Given the description of an element on the screen output the (x, y) to click on. 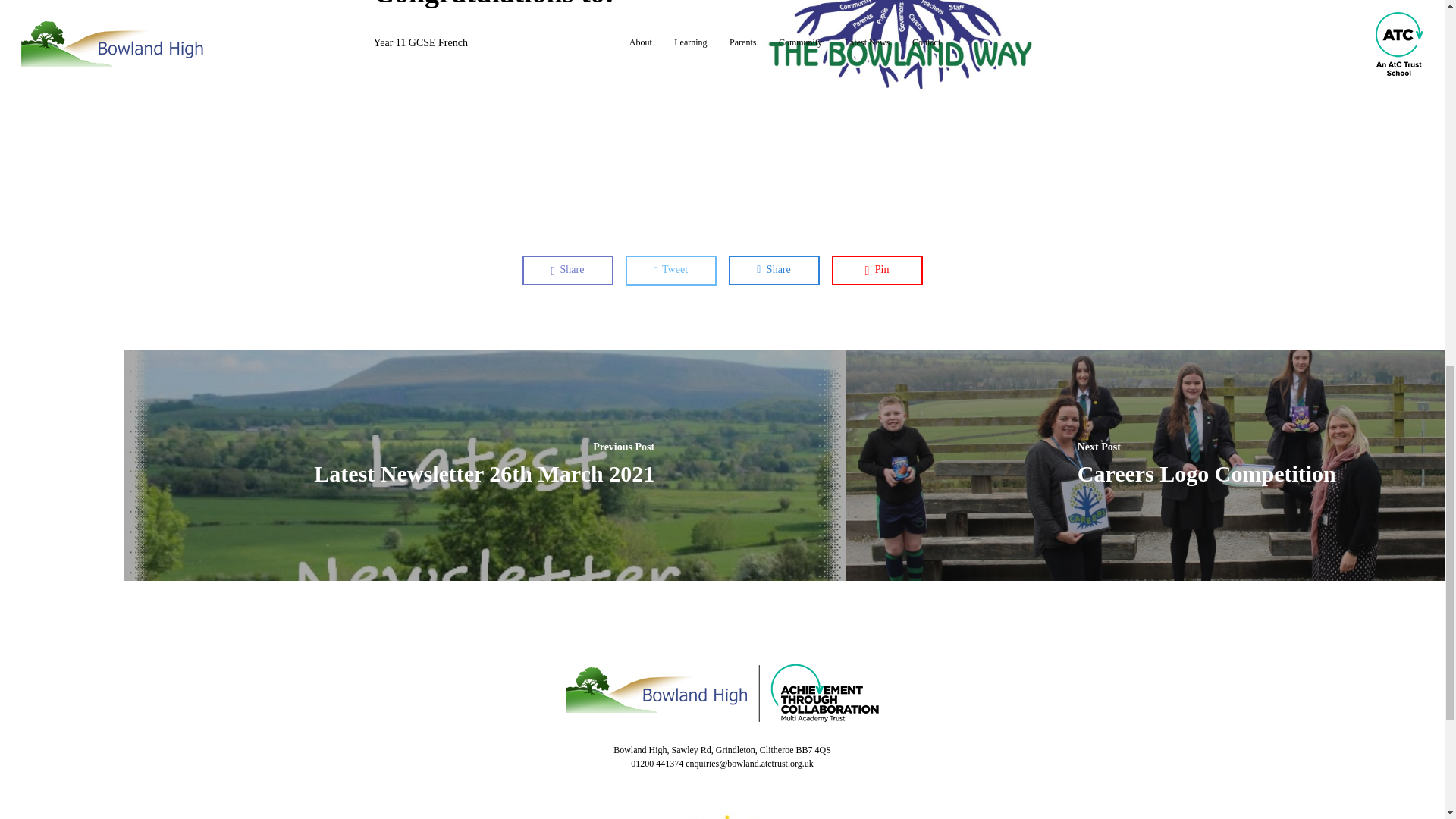
Share this (566, 269)
Pin this (876, 269)
Tweet this (670, 270)
Share this (773, 269)
